Given the description of an element on the screen output the (x, y) to click on. 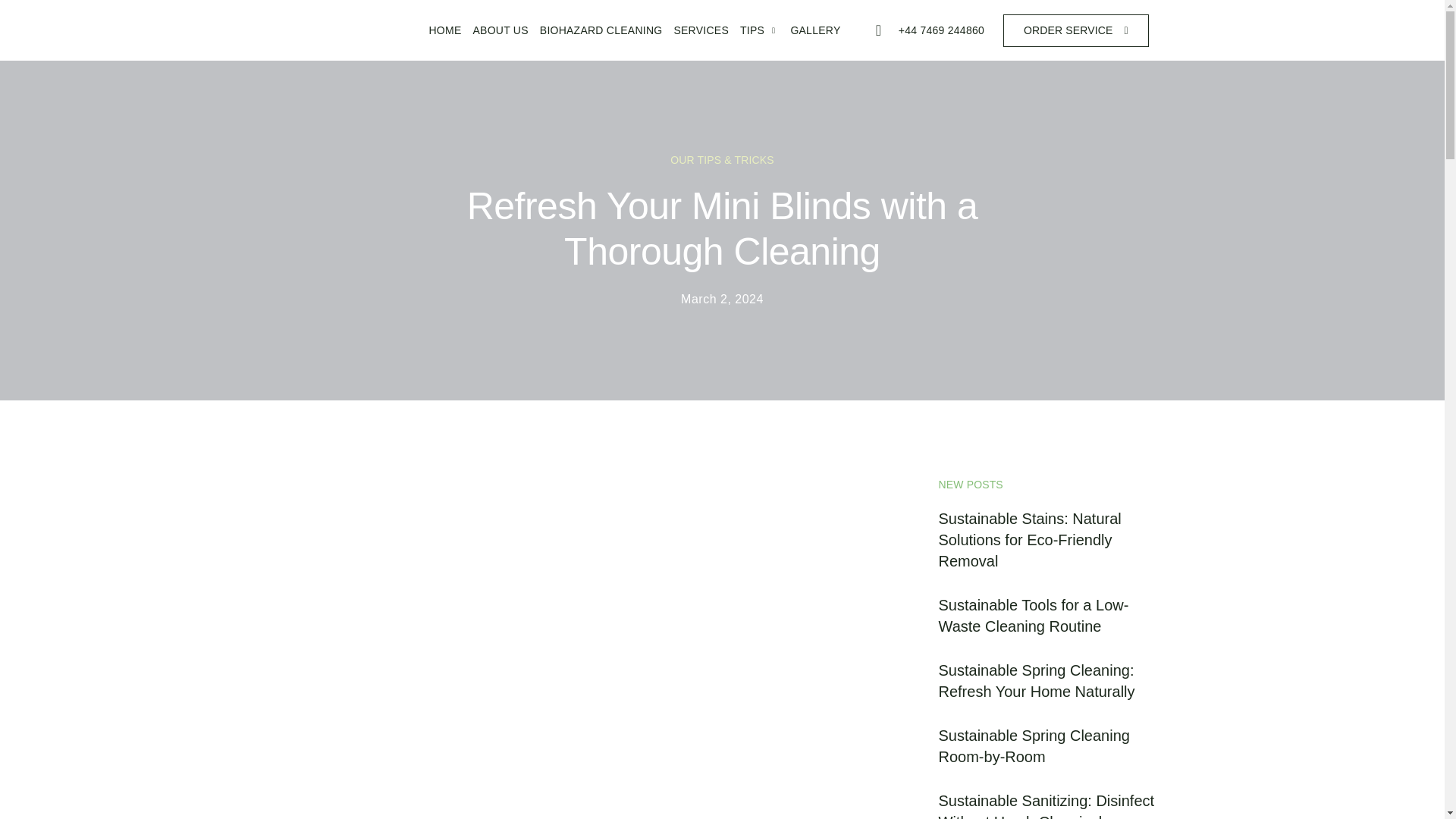
TIPS (753, 24)
ABOUT US (494, 22)
HOME (438, 22)
SERVICES (695, 24)
ORDER SERVICE (1075, 29)
GALLERY (809, 28)
BIOHAZARD CLEANING (595, 23)
